Given the description of an element on the screen output the (x, y) to click on. 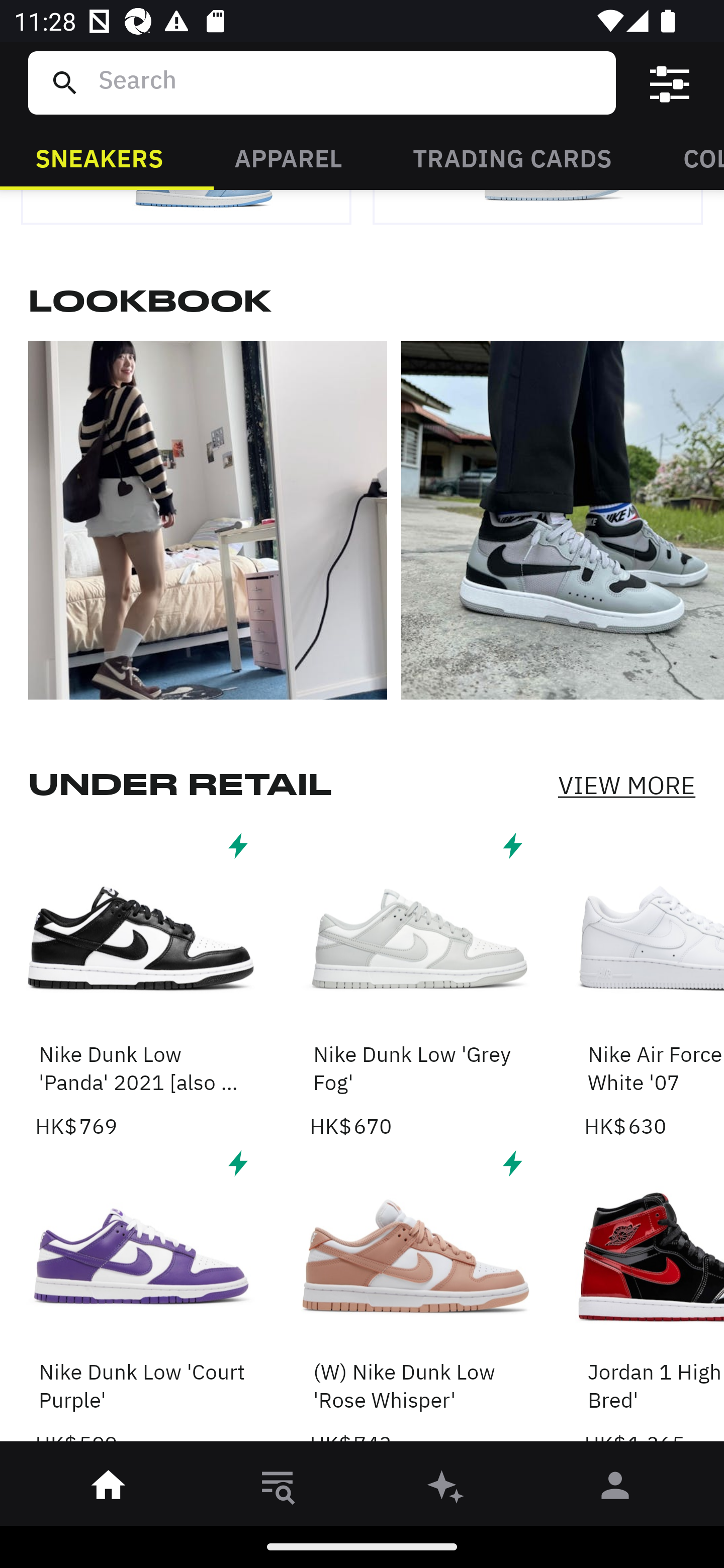
Search (349, 82)
 (669, 82)
SNEAKERS (99, 156)
APPAREL (287, 156)
TRADING CARDS (512, 156)
VIEW MORE (626, 785)
 Nike Dunk Low 'Grey Fog' HK$ 670 (414, 983)
Nike Air Force 1 Low White '07 HK$ 630 (654, 983)
 Nike Dunk Low 'Court Purple' HK$ 599 (140, 1297)
 (W) Nike Dunk Low 'Rose Whisper' HK$ 743 (414, 1297)
Jordan 1 High 'Patent Bred' HK$ 1,365 (654, 1297)
󰋜 (108, 1488)
󱎸 (277, 1488)
󰫢 (446, 1488)
󰀄 (615, 1488)
